Given the description of an element on the screen output the (x, y) to click on. 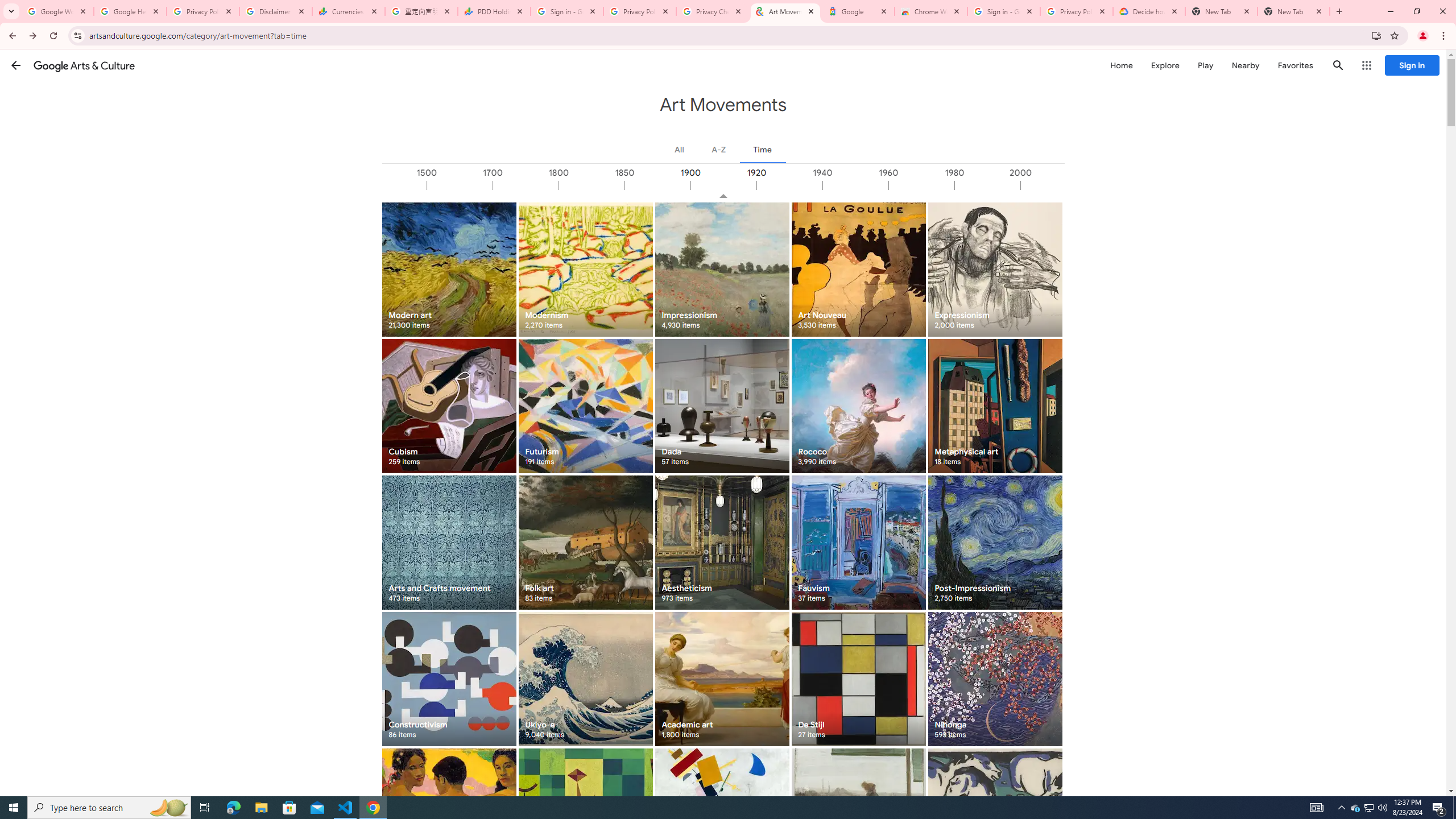
Time (761, 148)
1000 (392, 185)
A-Z (718, 148)
Chrome Web Store - Color themes by Chrome (930, 11)
Sign in - Google Accounts (566, 11)
Play (1205, 65)
Art Nouveau 3,530 items (858, 269)
New Tab (1293, 11)
Install Google Arts & Culture (1376, 35)
Favorites (1295, 65)
